Given the description of an element on the screen output the (x, y) to click on. 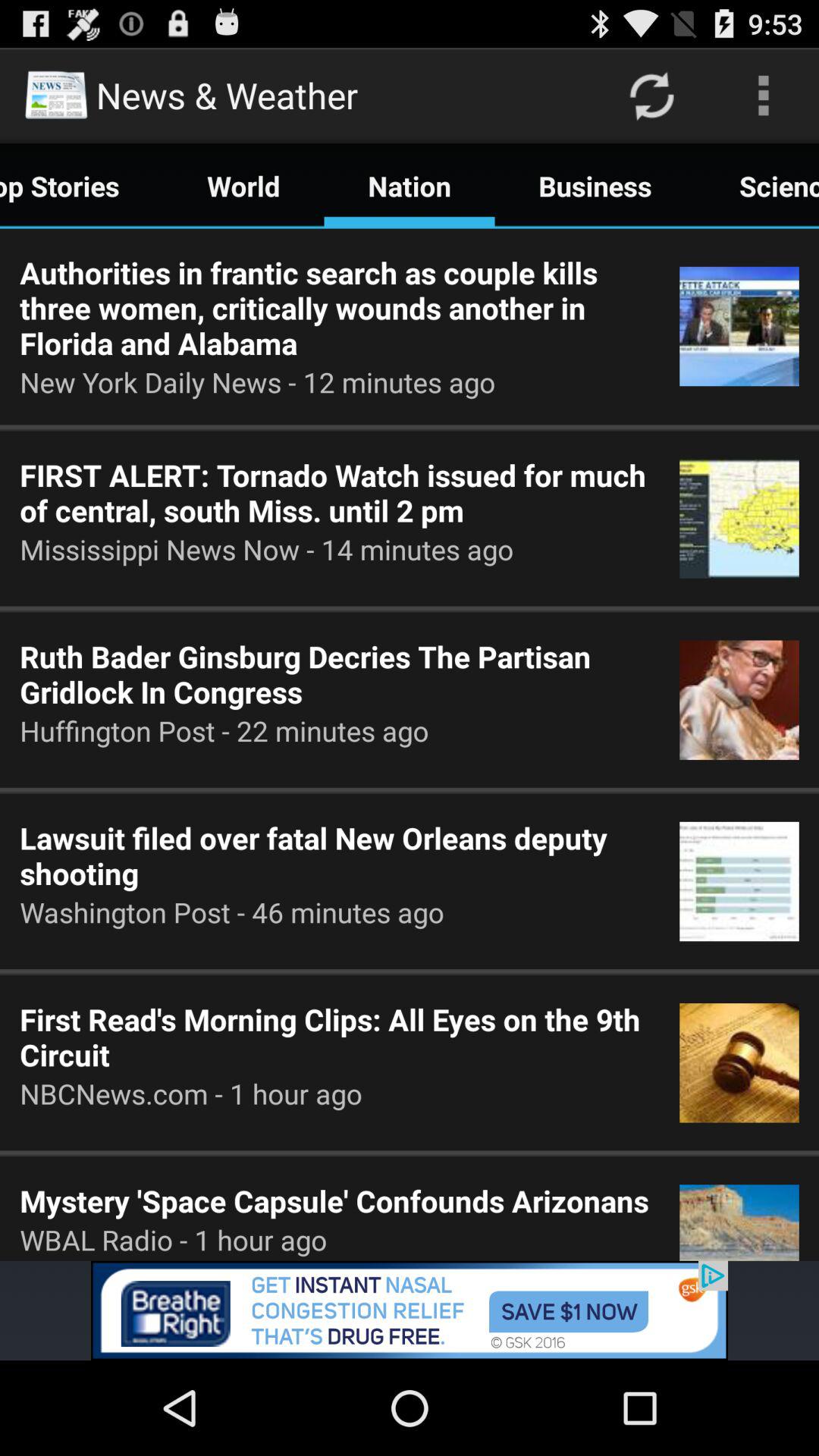
click on advertisement below (409, 1310)
